Given the description of an element on the screen output the (x, y) to click on. 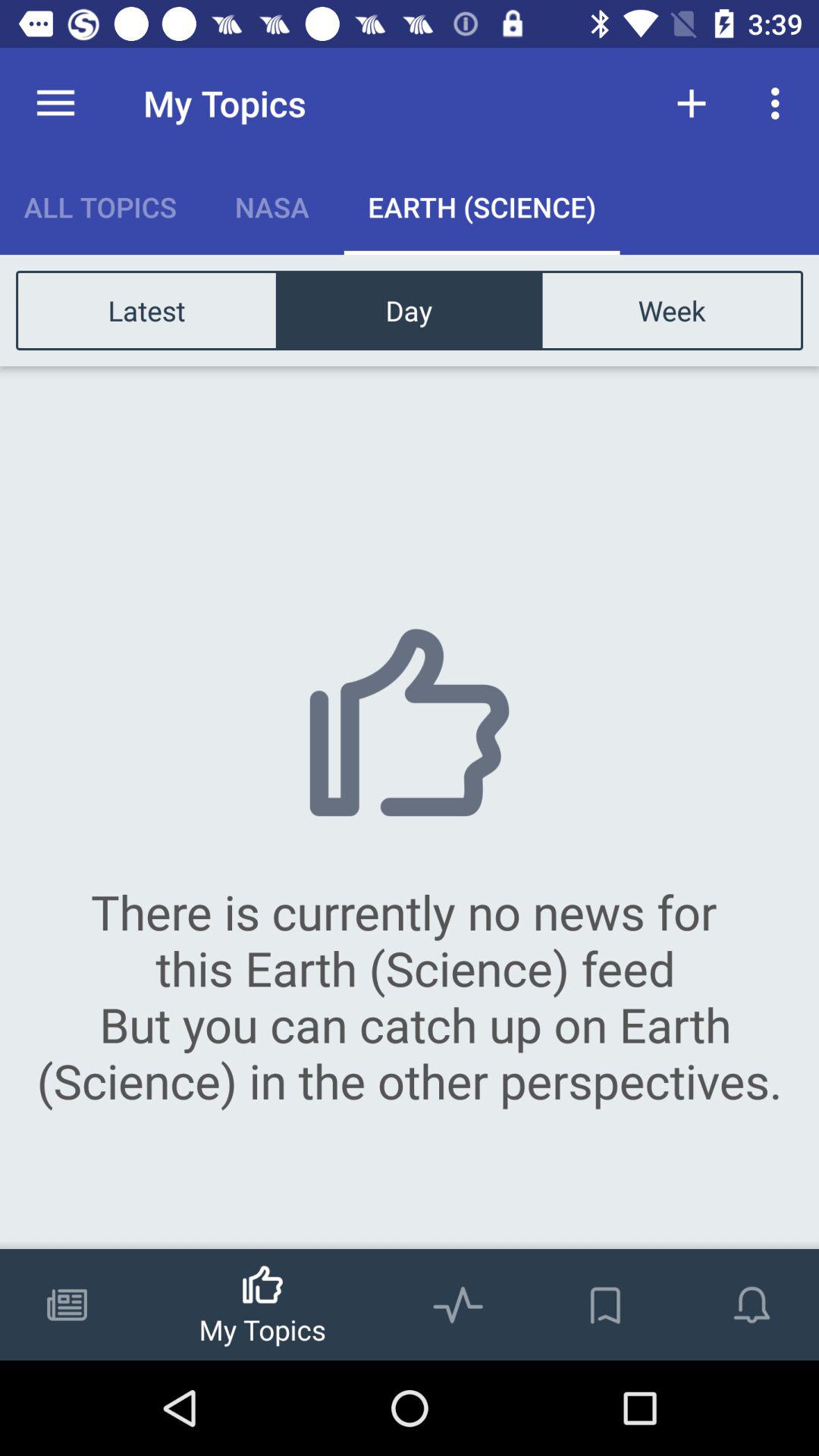
select the item above the week (691, 103)
